Given the description of an element on the screen output the (x, y) to click on. 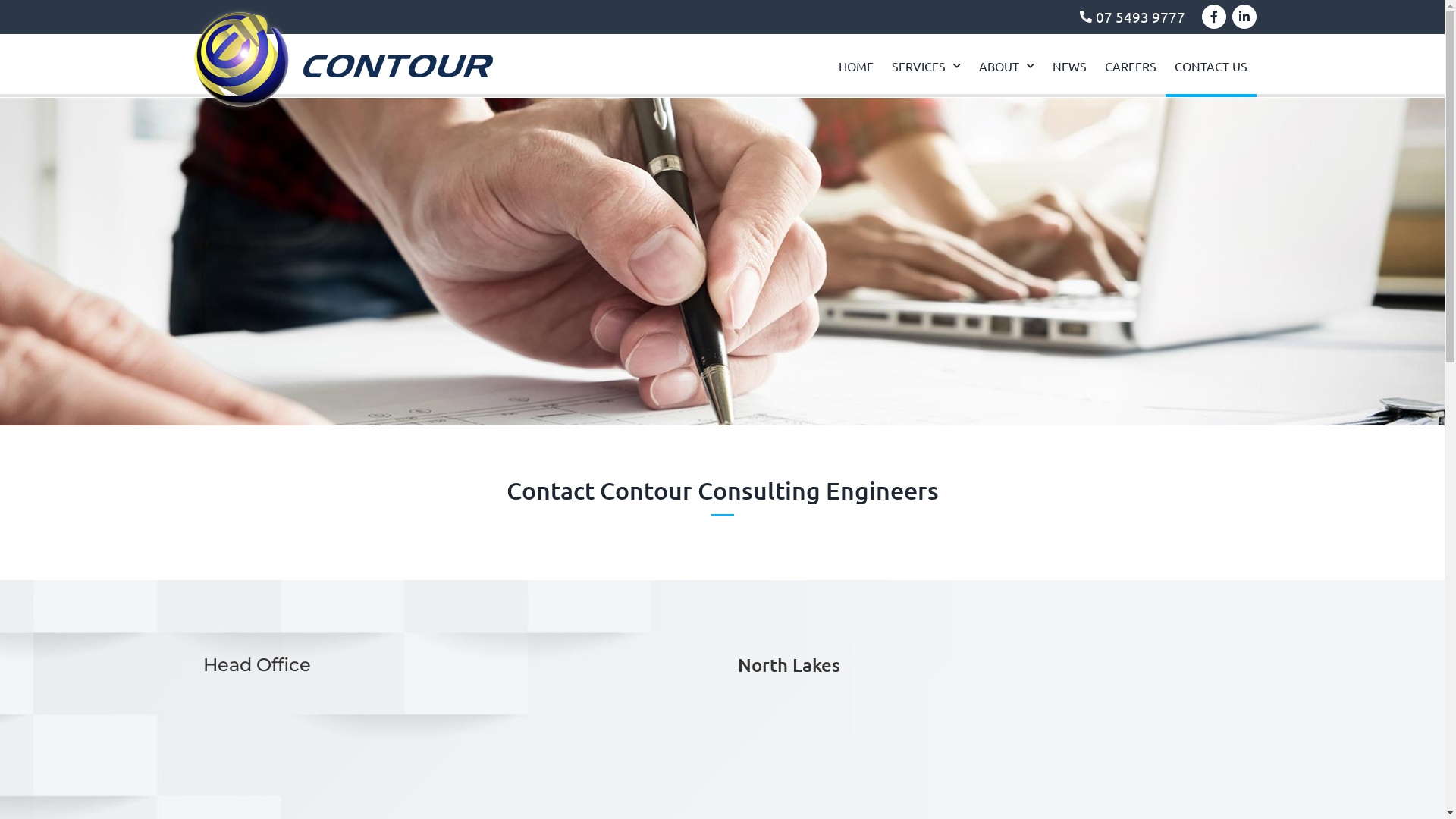
CONTACT US Element type: text (1210, 65)
SERVICES Element type: text (925, 65)
ABOUT Element type: text (1006, 65)
CAREERS Element type: text (1130, 65)
HOME Element type: text (855, 65)
NEWS Element type: text (1069, 65)
07 5493 9777 Element type: text (689, 17)
